Given the description of an element on the screen output the (x, y) to click on. 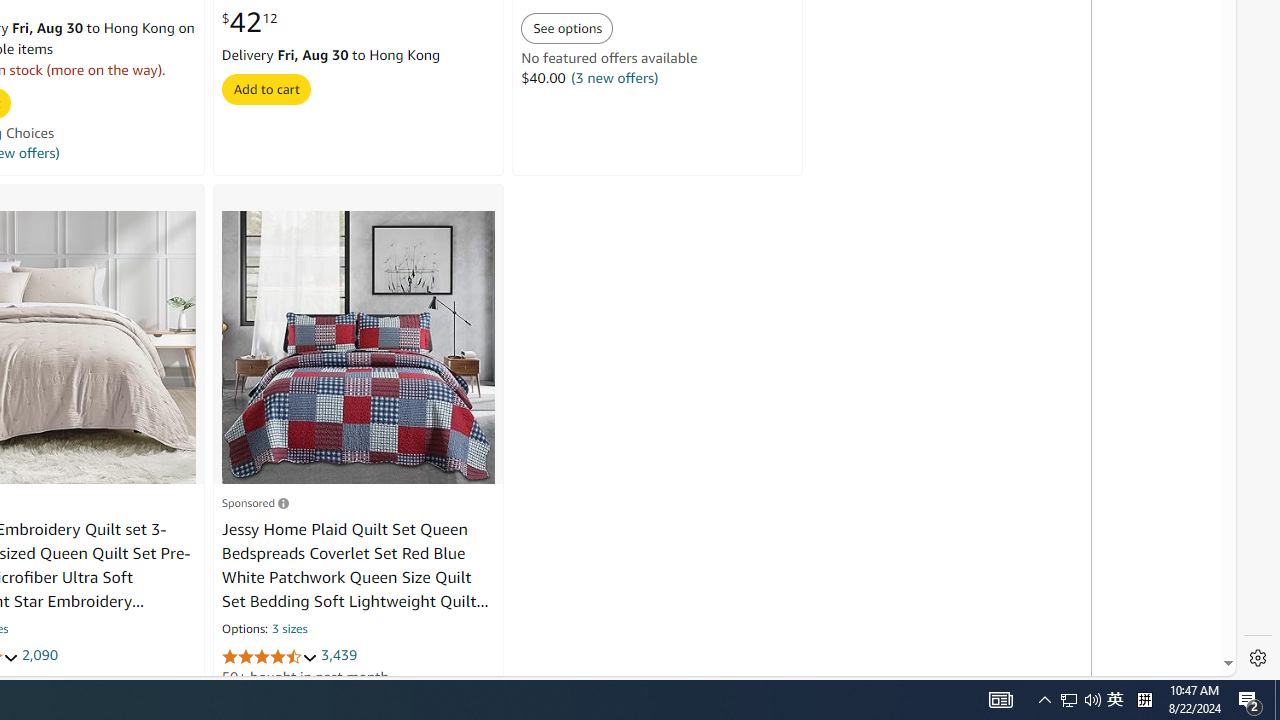
Add to cart (265, 88)
$42.12 (249, 23)
See options (567, 28)
3 sizes (289, 629)
View Sponsored information or leave ad feedback (255, 502)
2,090 (38, 655)
(3 new offers) (614, 78)
3,439 (339, 655)
4.4 out of 5 stars (269, 655)
